Given the description of an element on the screen output the (x, y) to click on. 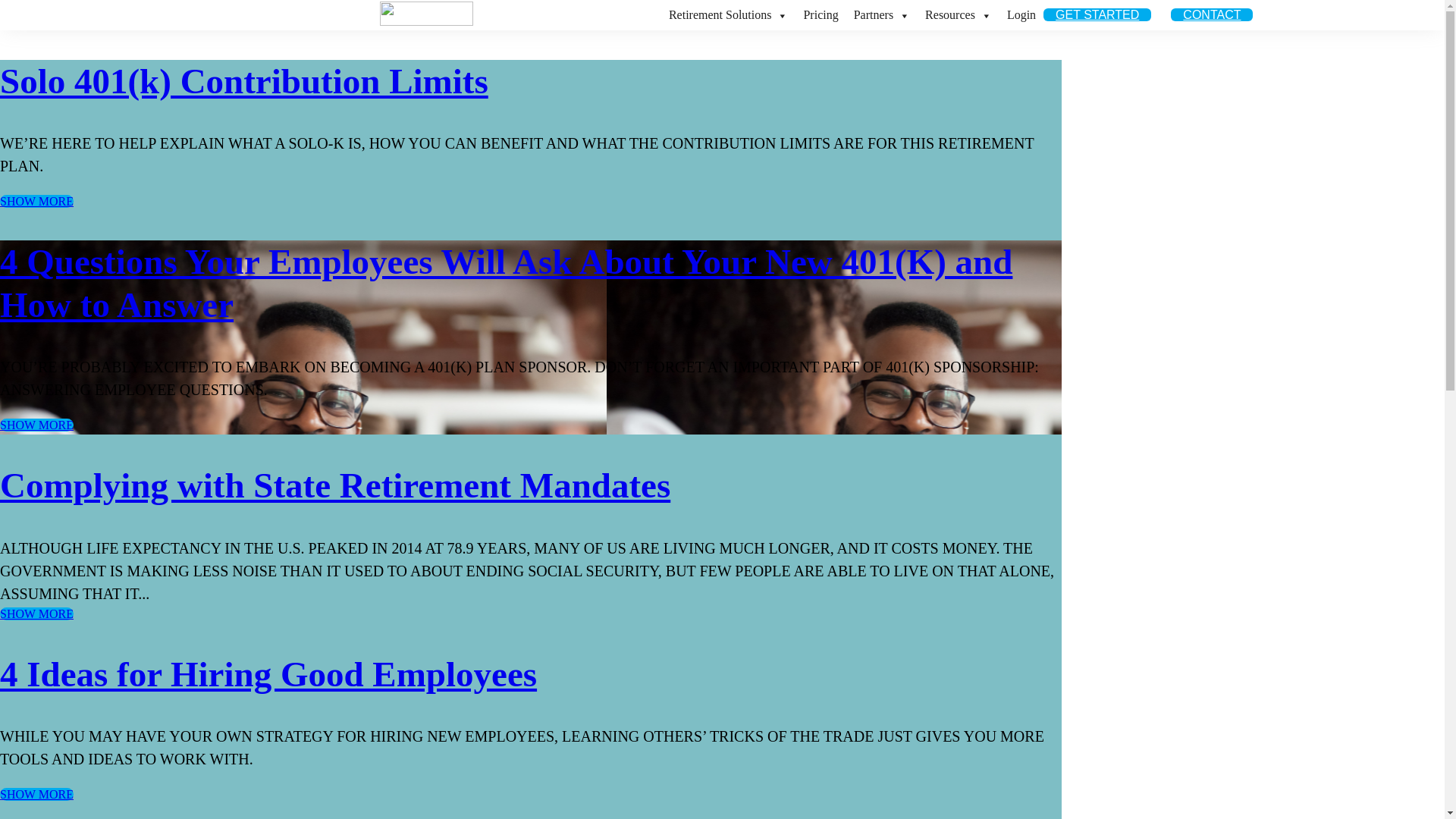
SHOW MORE Element type: text (36, 424)
Pricing Element type: text (820, 15)
GET STARTED Element type: text (1097, 14)
CONTACT Element type: text (1211, 14)
Login Element type: text (1021, 15)
Retirement Solutions Element type: text (728, 15)
Partners Element type: text (881, 15)
Resources Element type: text (958, 15)
SHOW MORE Element type: text (36, 613)
SHOW MORE Element type: text (36, 793)
Solo 401(k) Contribution Limits Element type: text (244, 80)
Complying with State Retirement Mandates Element type: text (335, 485)
Isolation_Mode Element type: hover (426, 13)
SHOW MORE Element type: text (36, 200)
4 Ideas for Hiring Good Employees Element type: text (268, 673)
